Given the description of an element on the screen output the (x, y) to click on. 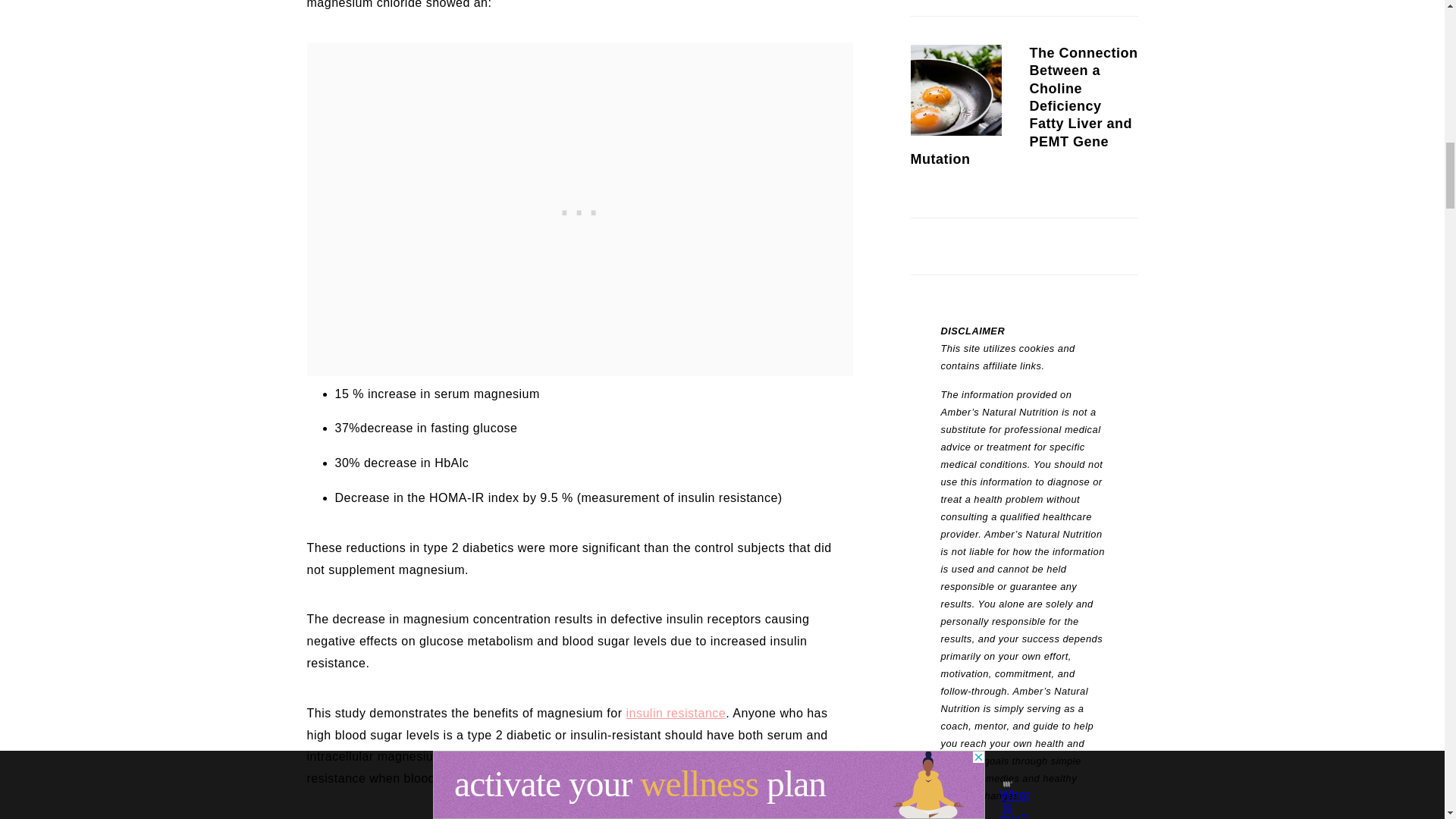
insulin resistance (675, 712)
